Given the description of an element on the screen output the (x, y) to click on. 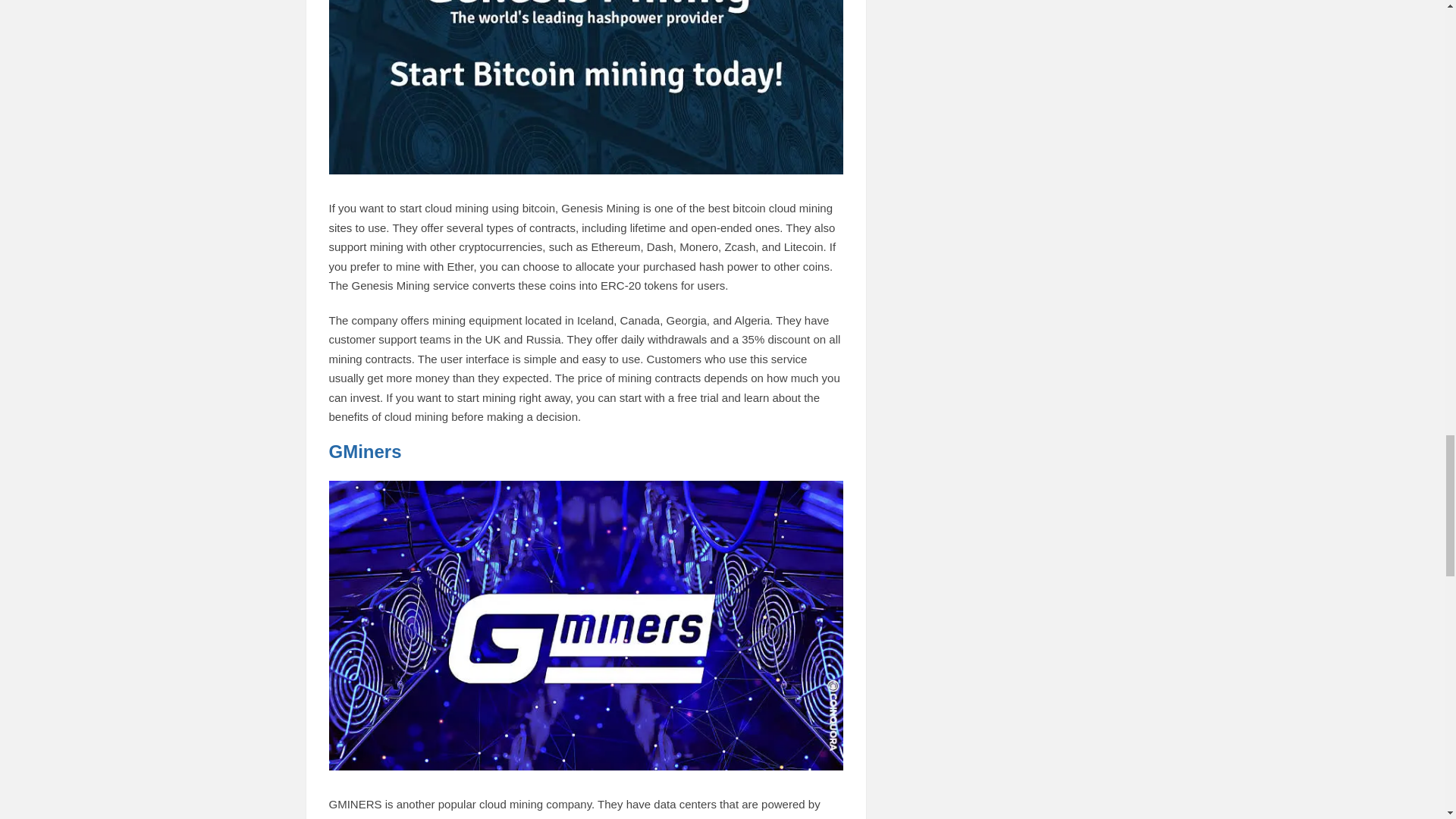
GMiners (365, 451)
